Given the description of an element on the screen output the (x, y) to click on. 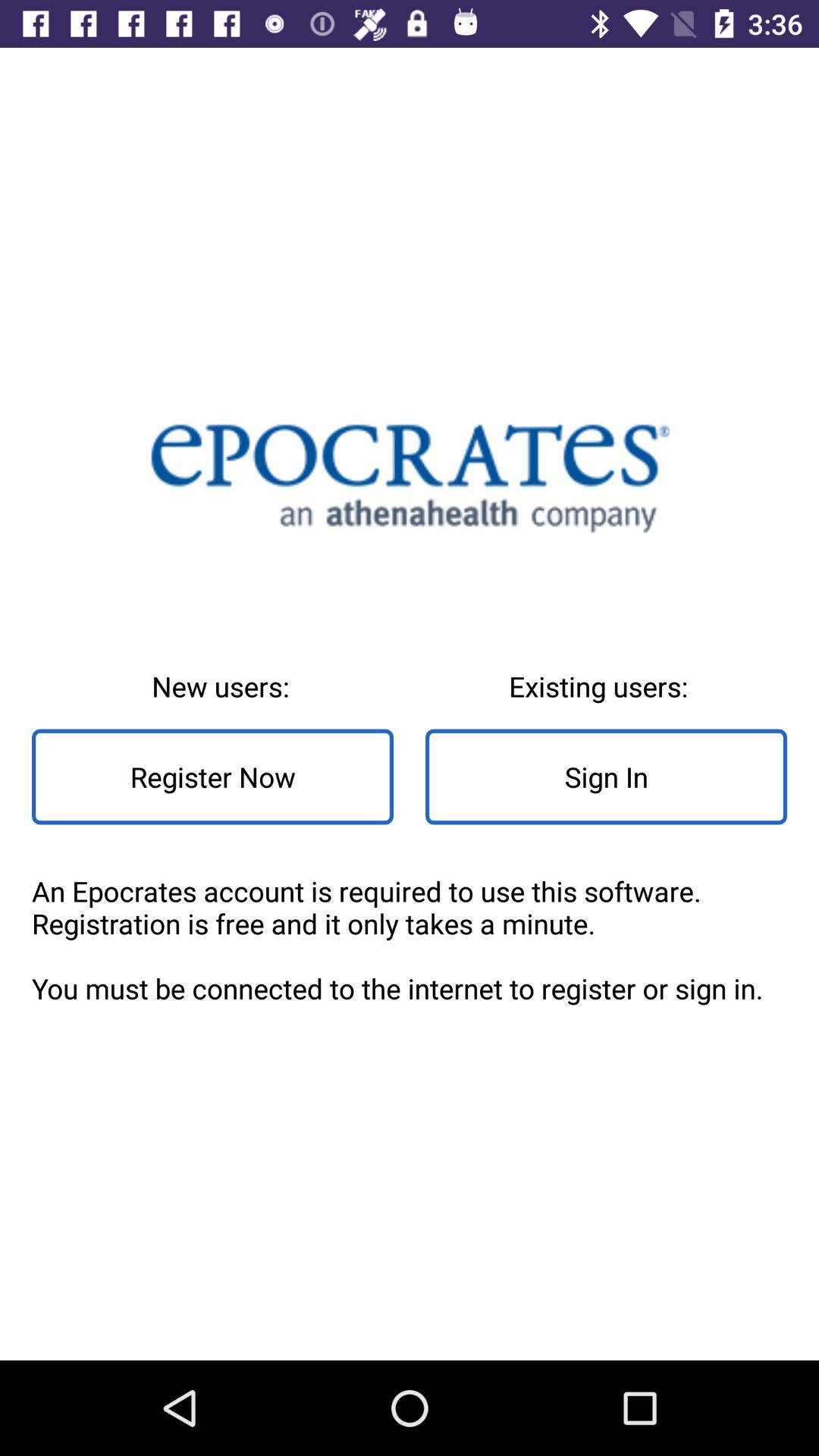
tap item to the left of the existing users: icon (212, 776)
